Given the description of an element on the screen output the (x, y) to click on. 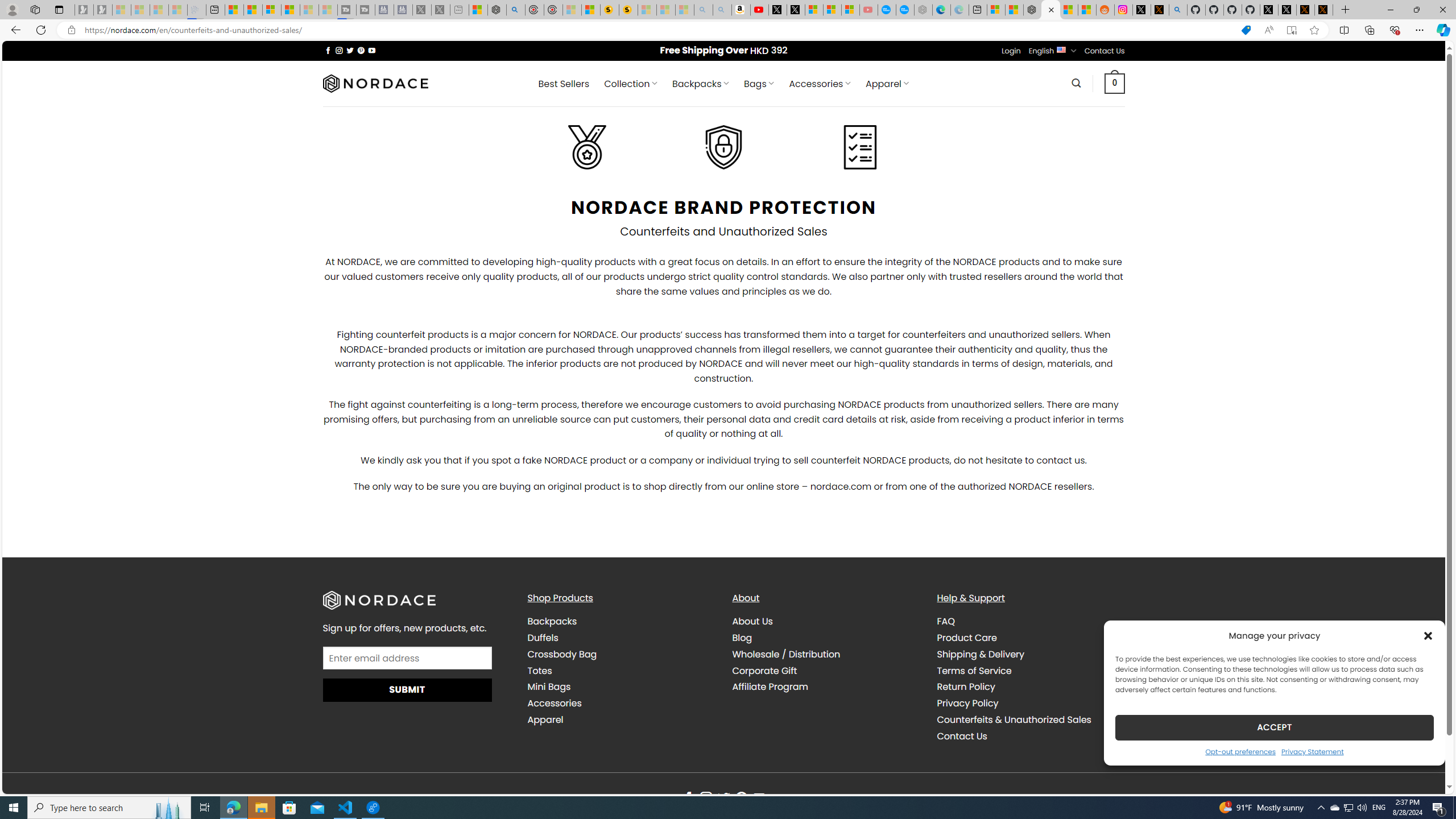
Nordace - Best Sellers (1032, 9)
Crossbody Bag (620, 654)
 Best Sellers (563, 83)
